Given the description of an element on the screen output the (x, y) to click on. 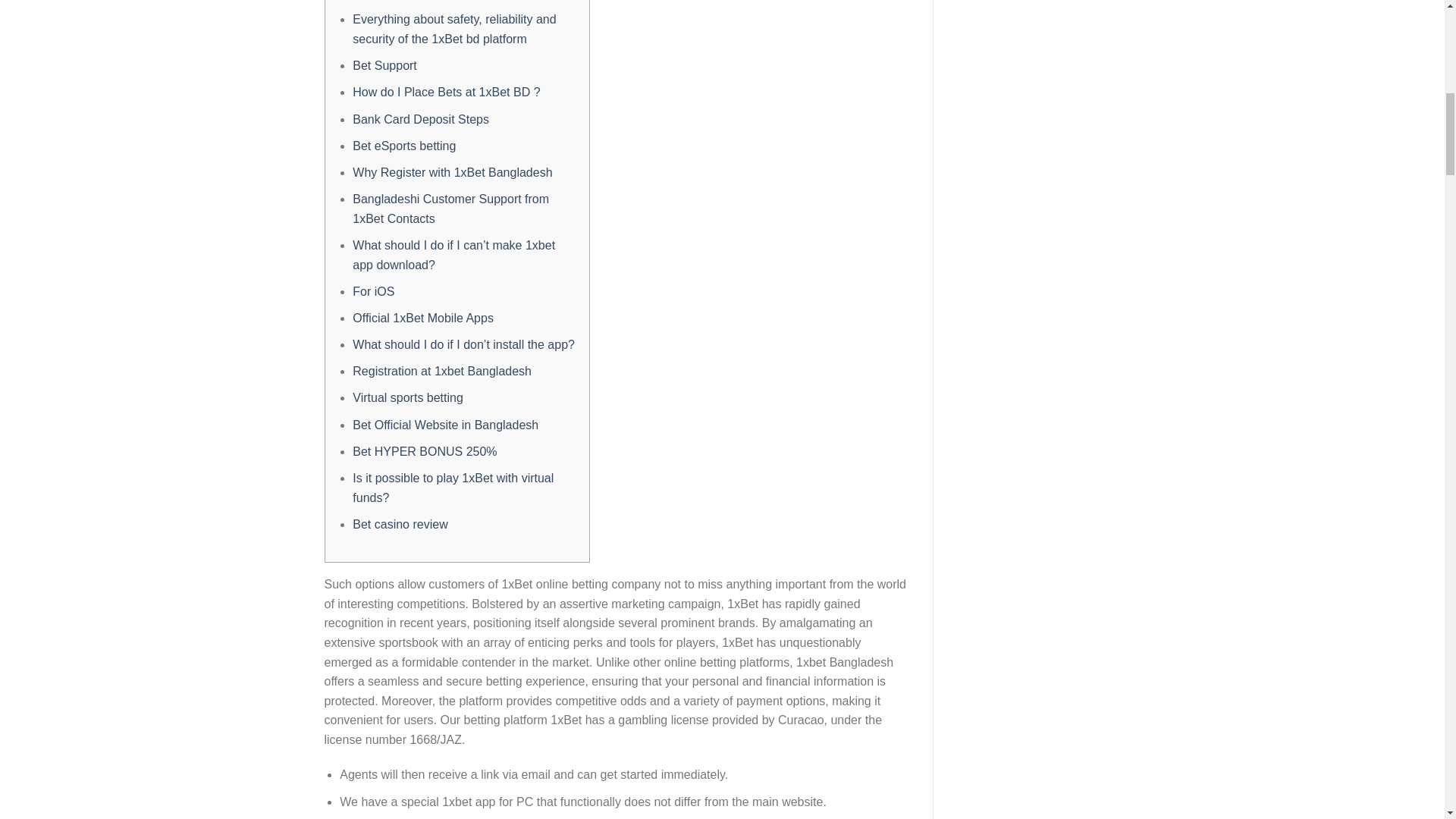
Is it possible to play 1xBet with virtual funds? (452, 487)
Why Register with 1xBet Bangladesh (451, 172)
Bank Card Deposit Steps (420, 119)
Virtual sports betting (407, 397)
Official 1xBet Mobile Apps (422, 318)
Registration at 1xbet Bangladesh (441, 370)
For iOS (373, 291)
Bet eSports betting (403, 145)
Bangladeshi Customer Support from 1xBet Contacts (450, 208)
Bet casino review (399, 523)
Bet Official Website in Bangladesh (445, 424)
How do I Place Bets at 1xBet BD ? (446, 91)
Bet Support (384, 65)
